Given the description of an element on the screen output the (x, y) to click on. 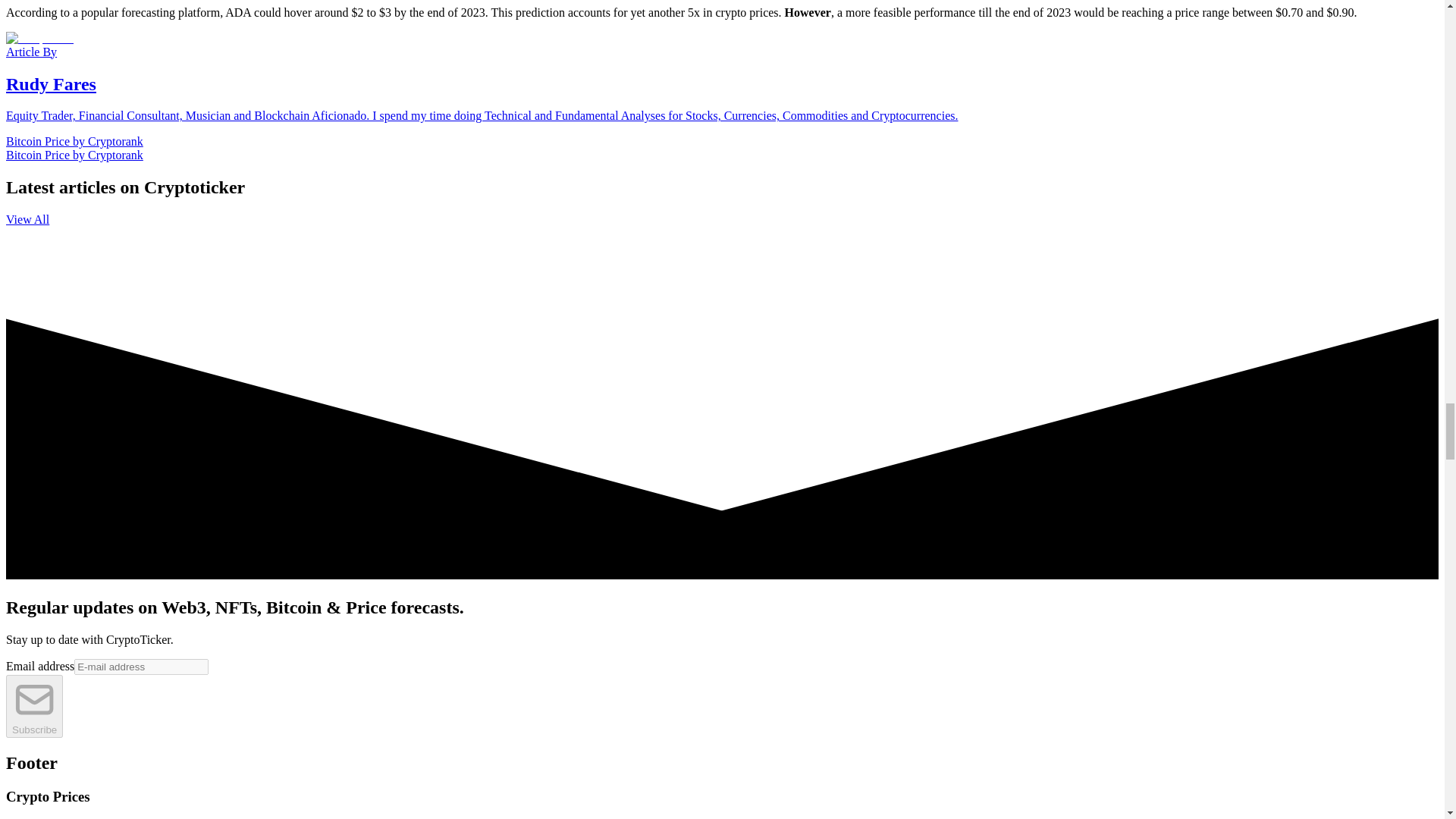
View All (27, 219)
Subscribe (33, 705)
Bitcoin Price by Cryptorank (73, 141)
Bitcoin Price by Cryptorank (73, 154)
